Given the description of an element on the screen output the (x, y) to click on. 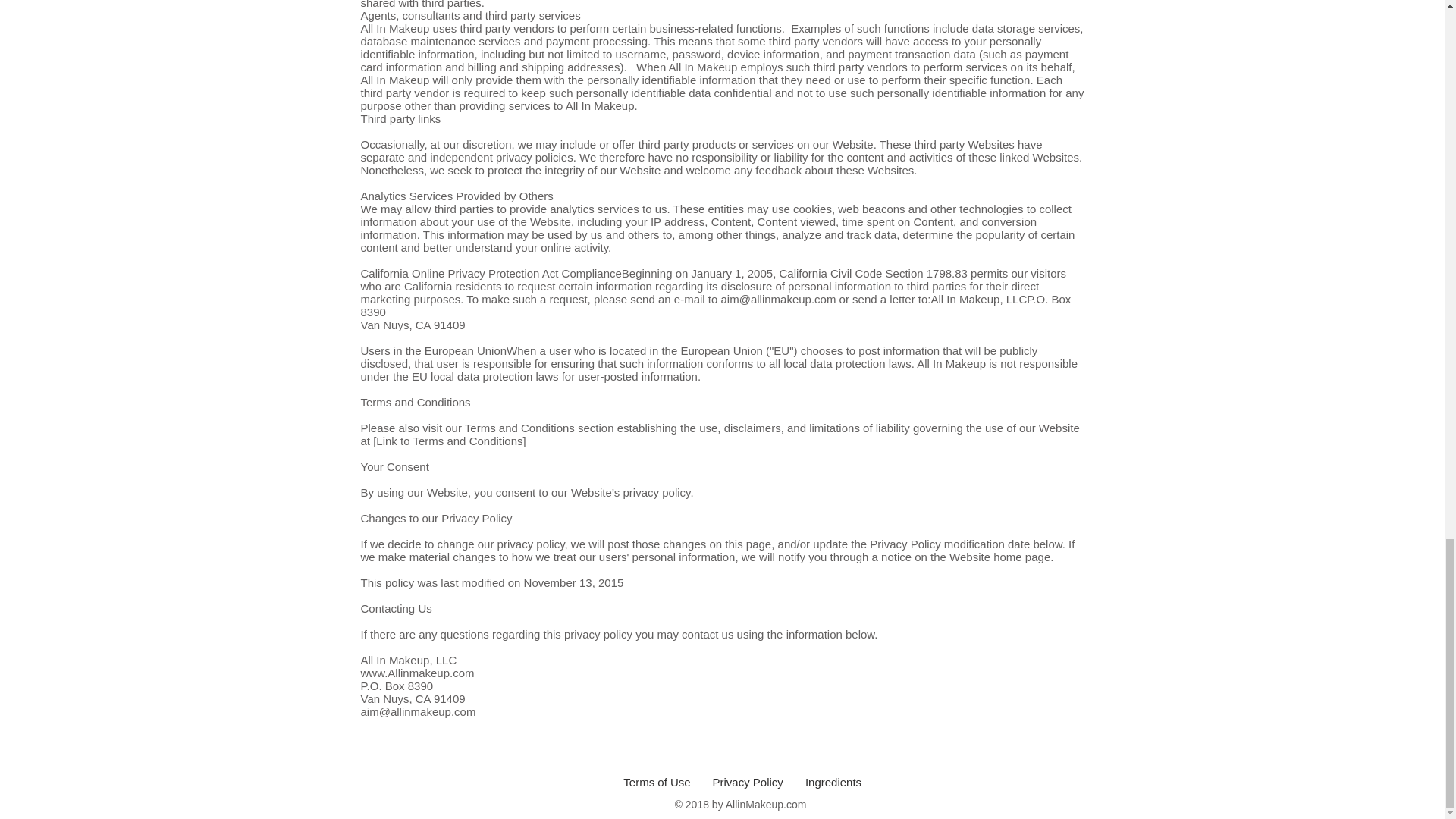
Ingredients (832, 781)
www.Allinmakeup.com (417, 672)
Terms of Use (656, 781)
Privacy Policy (748, 781)
